Given the description of an element on the screen output the (x, y) to click on. 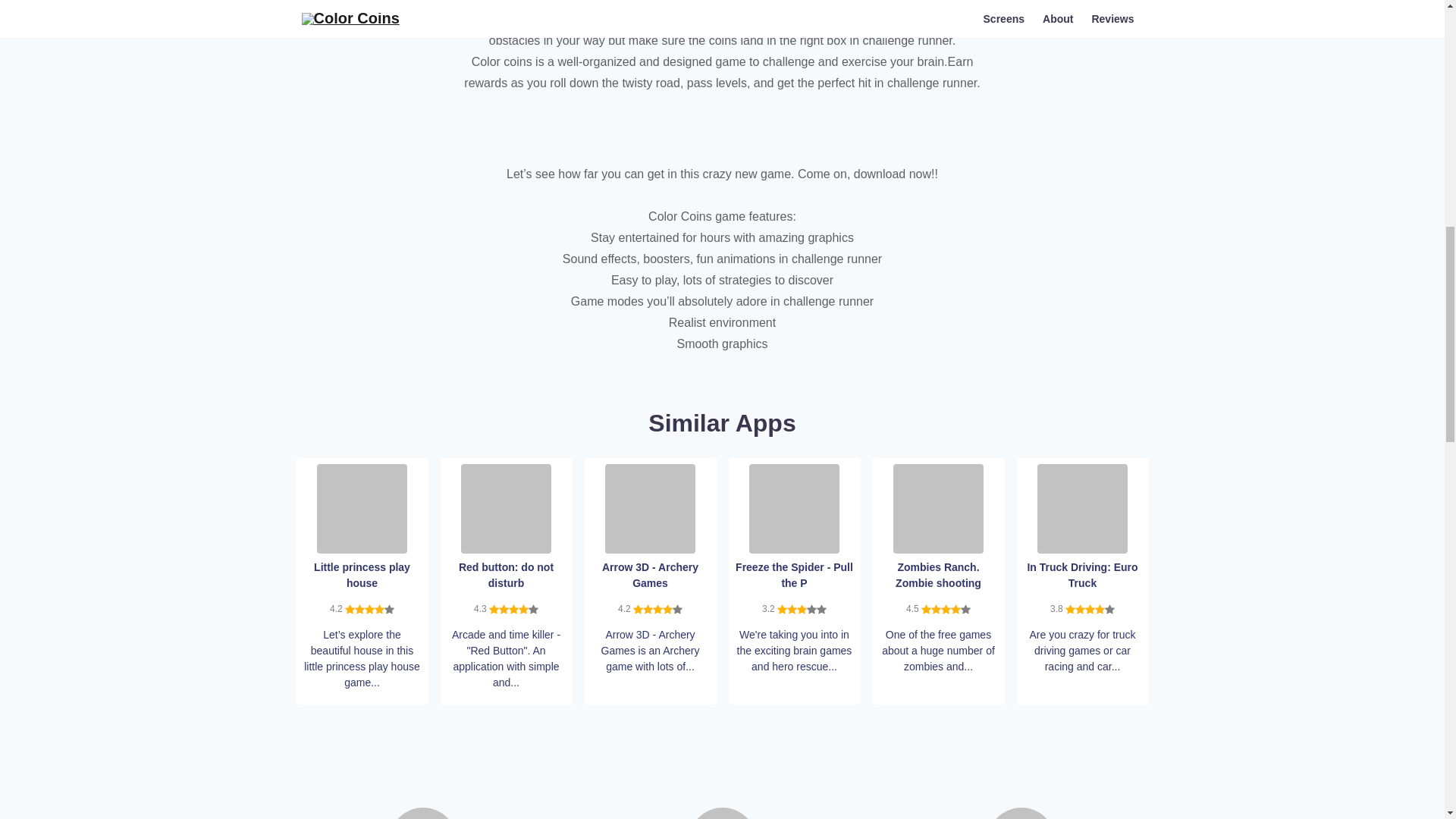
Little princess play house (362, 507)
Arrow 3D - Archery Games (650, 507)
In Truck Driving: Euro Truck (1081, 507)
Red button: do not disturb (506, 507)
Freeze the Spider - Pull the P (794, 507)
Zombies Ranch. Zombie shooting (938, 507)
